Given the description of an element on the screen output the (x, y) to click on. 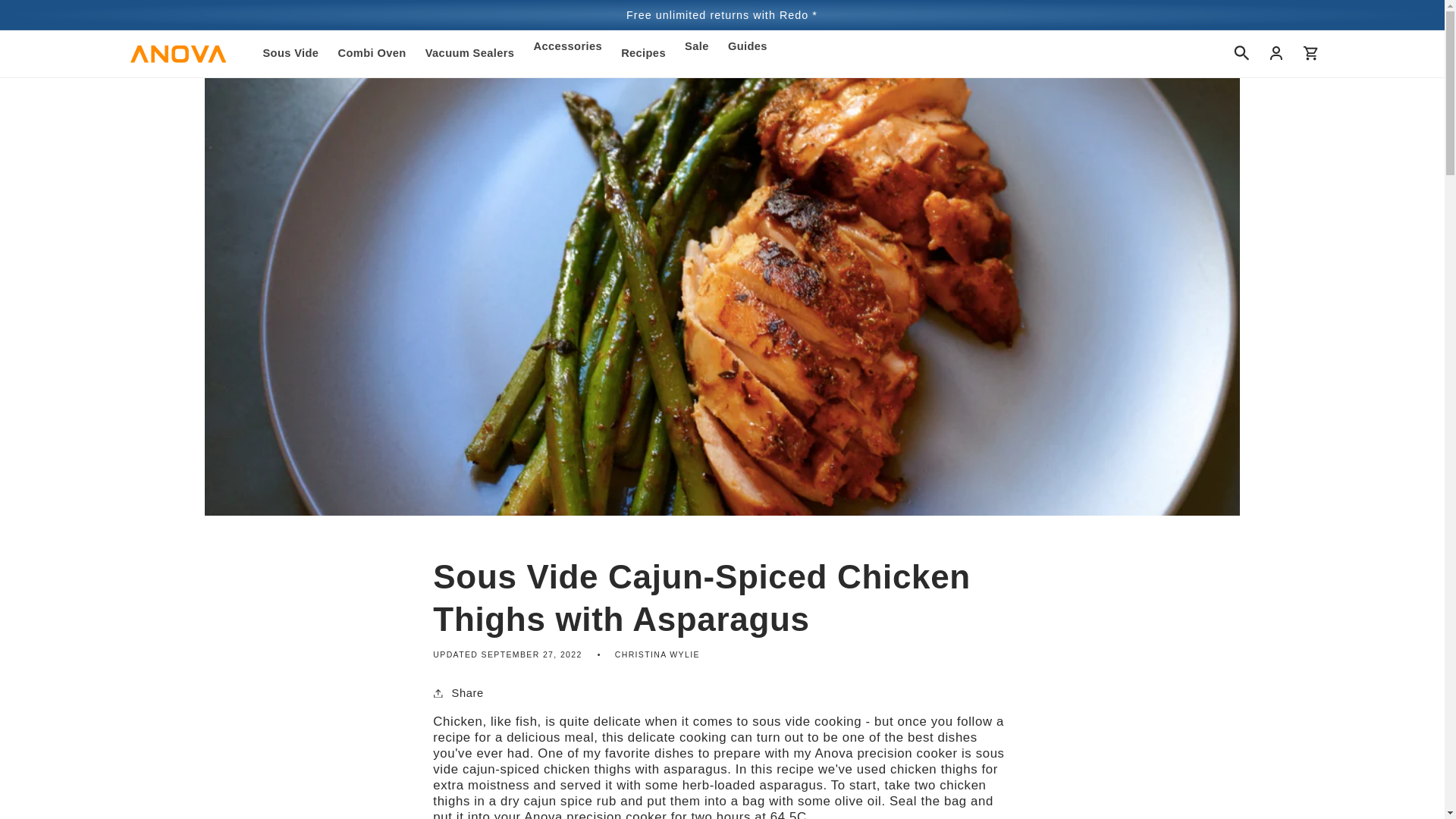
Sous Vide (291, 53)
Skip to content (48, 14)
